Given the description of an element on the screen output the (x, y) to click on. 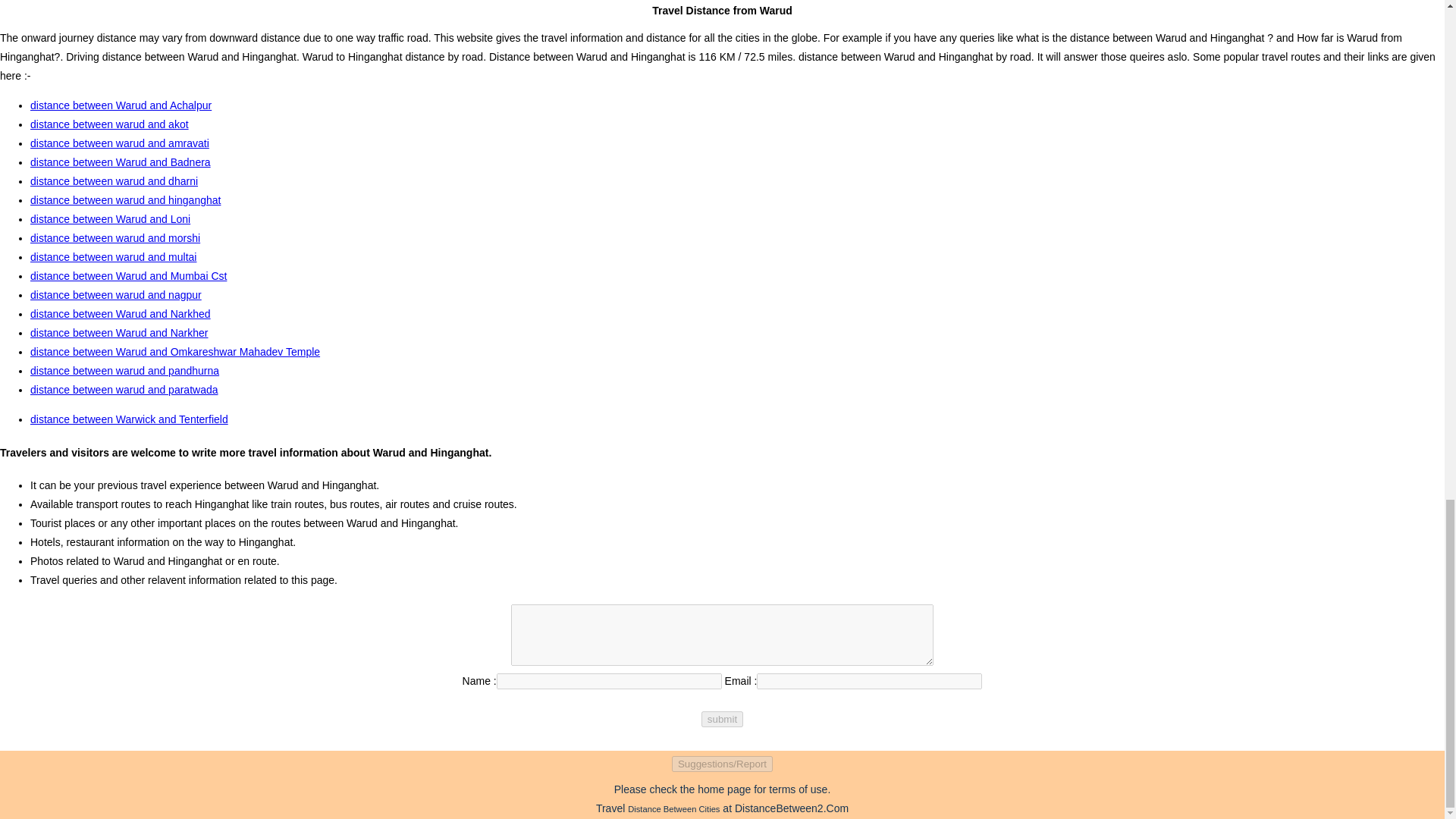
distance between warud and morshi (115, 237)
distance between Warud and Narkher (119, 332)
distance between warud and hinganghat (125, 200)
submit (721, 719)
distance between Warwick and Tenterfield (129, 419)
distance between warud and amravati (119, 143)
distance between Warud and Mumbai Cst (128, 275)
distance between warud and pandhurna (124, 370)
distance between warud and nagpur (116, 295)
distance between warud and akot (109, 123)
